Given the description of an element on the screen output the (x, y) to click on. 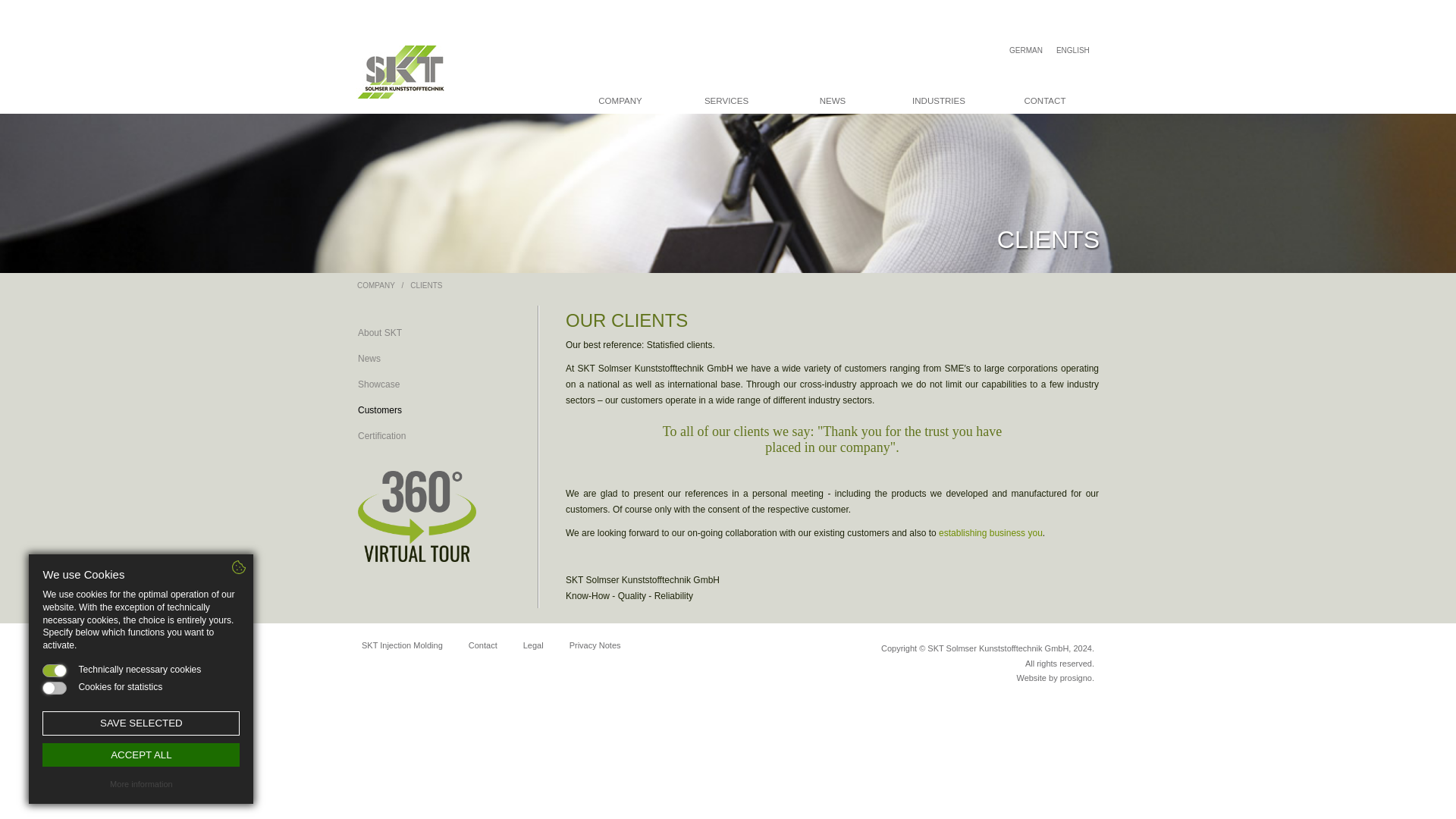
Internetagentur prosigno (1075, 677)
Customers (438, 410)
CLIENTS (426, 285)
Virtual Tour (438, 515)
establishing business you (990, 532)
Contact (482, 644)
More information (141, 783)
About SKT (438, 332)
Clients (426, 285)
Privacy Notes (595, 644)
SKT Kunststofftechnik (409, 67)
SAVE SELECTED (141, 722)
Legal (533, 644)
Certification (438, 435)
ENGLISH (1072, 50)
